Given the description of an element on the screen output the (x, y) to click on. 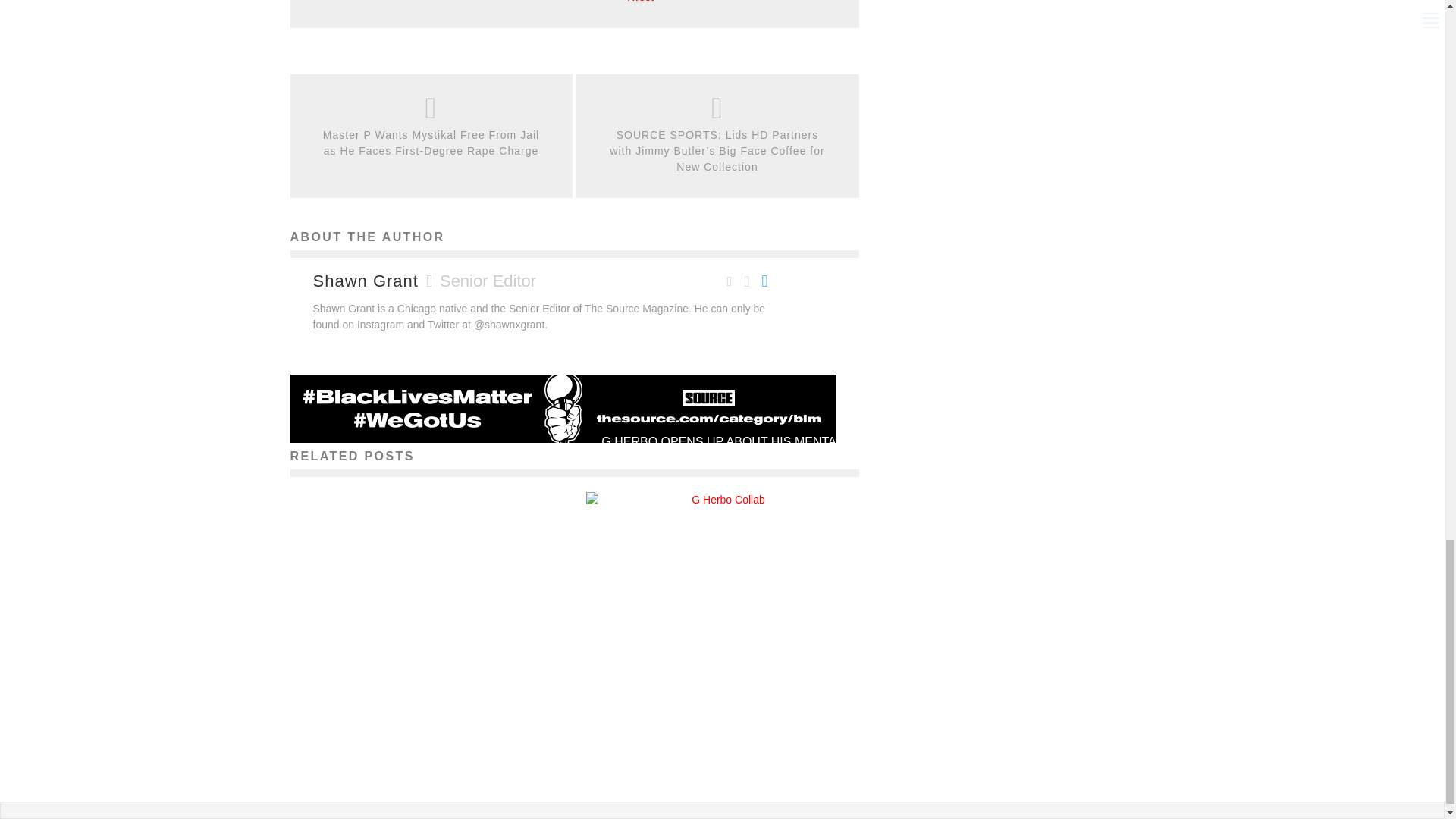
Toniesha Payne (381, 742)
Mira B (674, 486)
G HERBO OPENS UP ABOUT HIS MENTAL HEALTH AND SEEKING THERAPY (722, 451)
Shawn Grant (365, 280)
Tweet (639, 1)
